Given the description of an element on the screen output the (x, y) to click on. 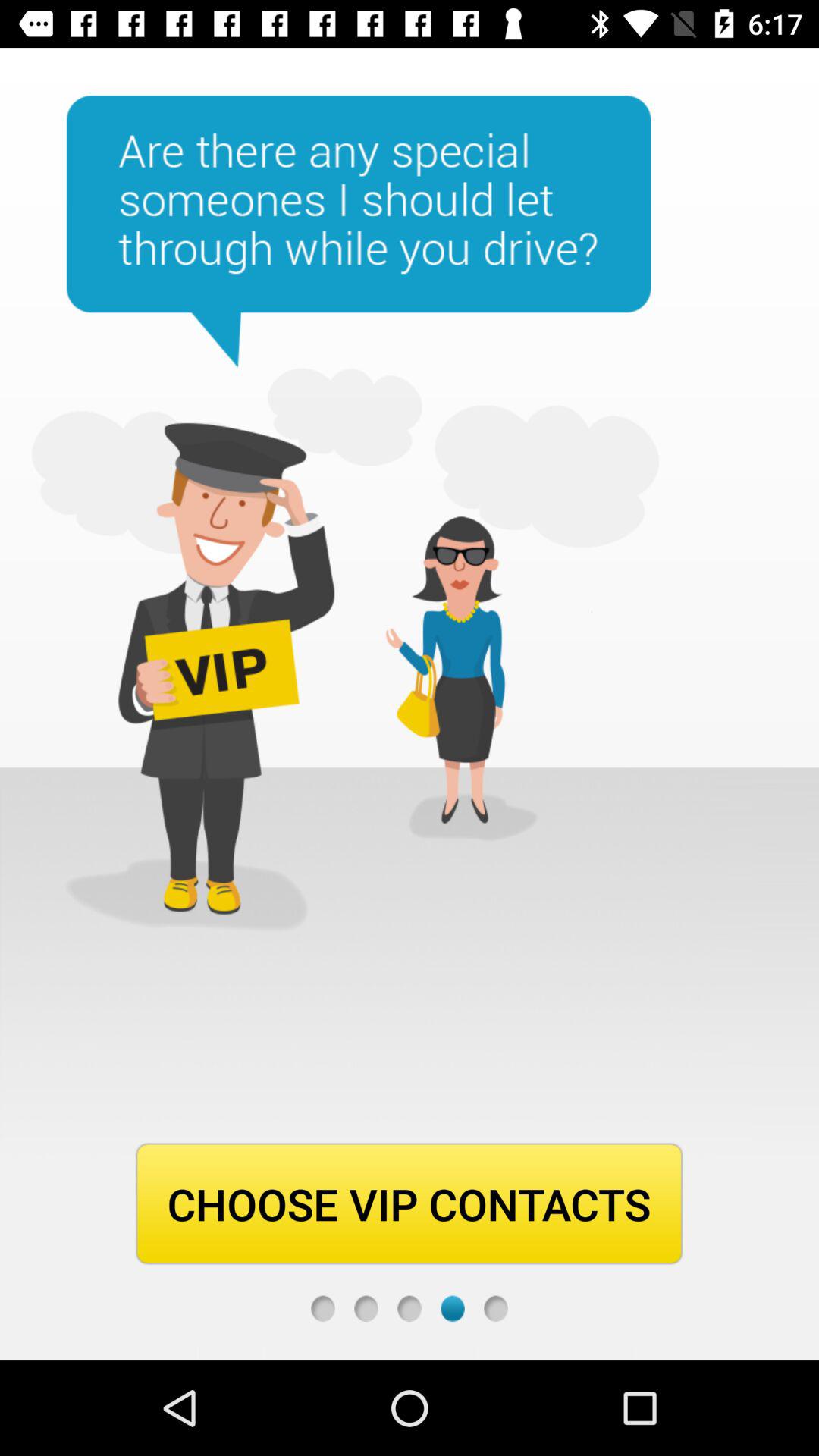
go to previous (409, 1308)
